Given the description of an element on the screen output the (x, y) to click on. 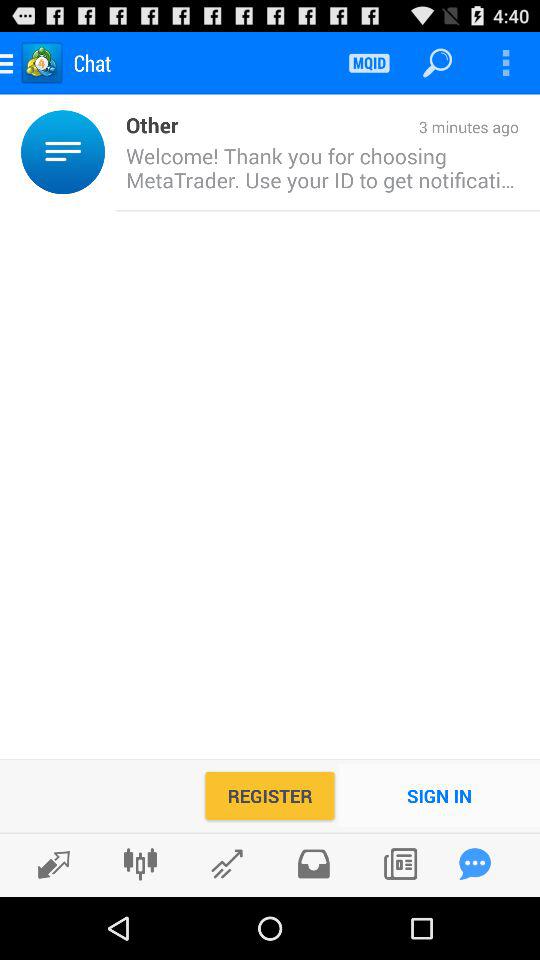
launch the item next to 3 minutes ago item (146, 124)
